Given the description of an element on the screen output the (x, y) to click on. 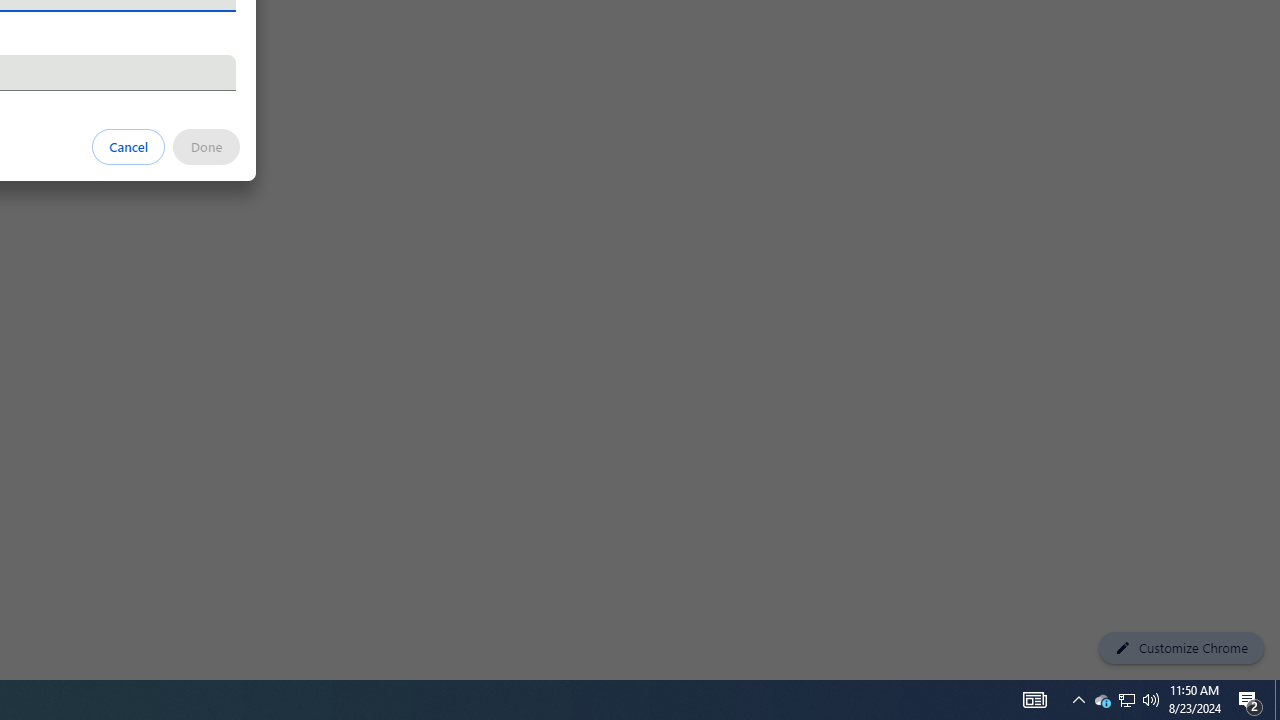
Done (206, 146)
Cancel (129, 146)
